Given the description of an element on the screen output the (x, y) to click on. 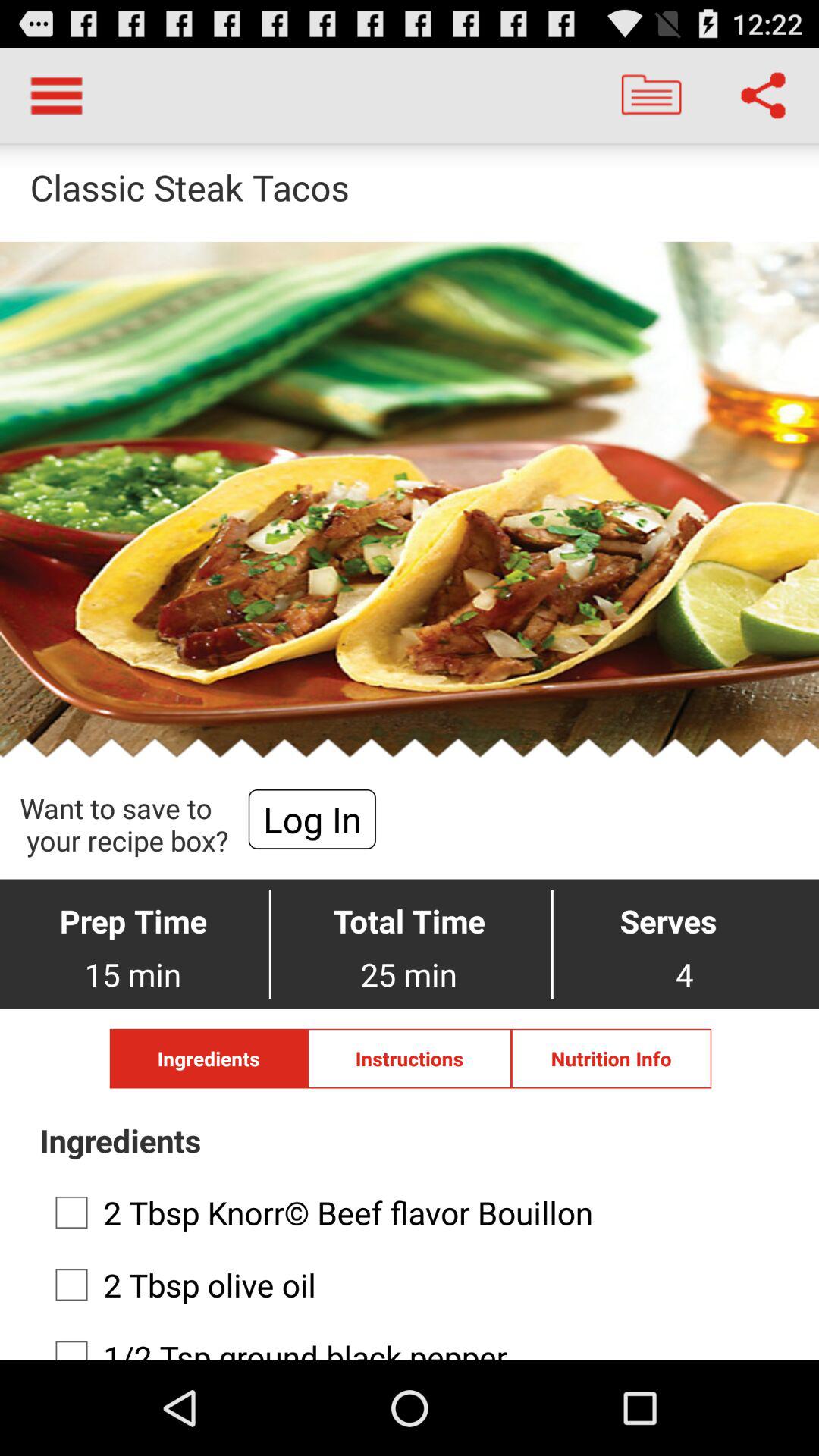
press icon next to want to save app (311, 819)
